Given the description of an element on the screen output the (x, y) to click on. 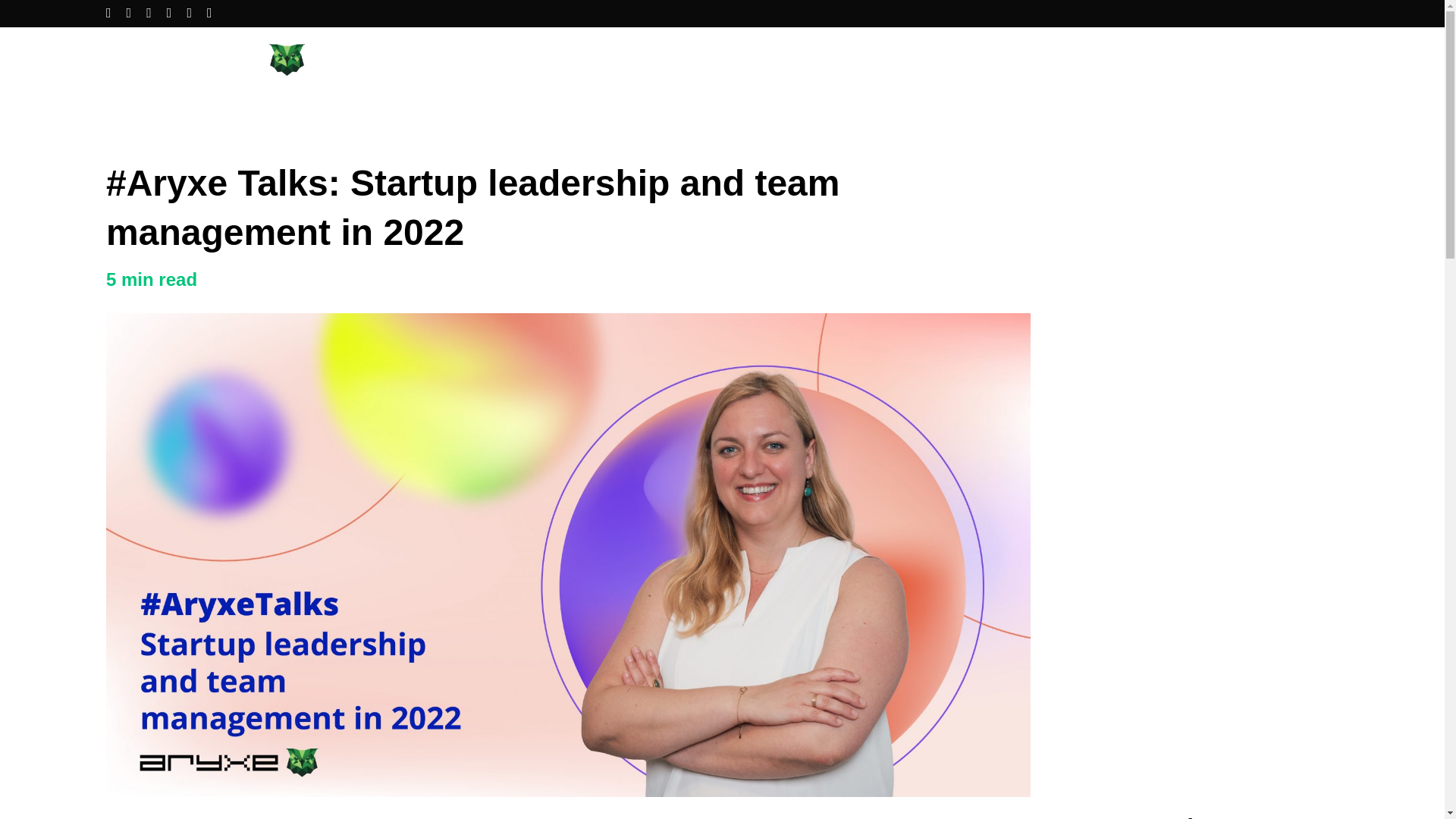
BLOG (1323, 60)
ABOUT US (1142, 60)
CAREERS (1207, 60)
CONTACT (1271, 60)
SERVICES (1077, 60)
HOME (1021, 60)
